Given the description of an element on the screen output the (x, y) to click on. 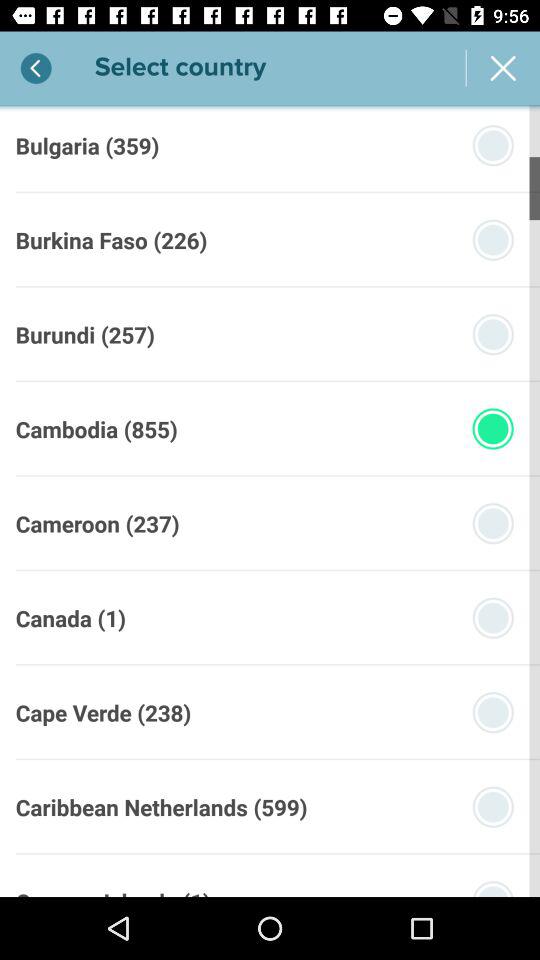
scroll to caribbean netherlands (599) icon (161, 806)
